Given the description of an element on the screen output the (x, y) to click on. 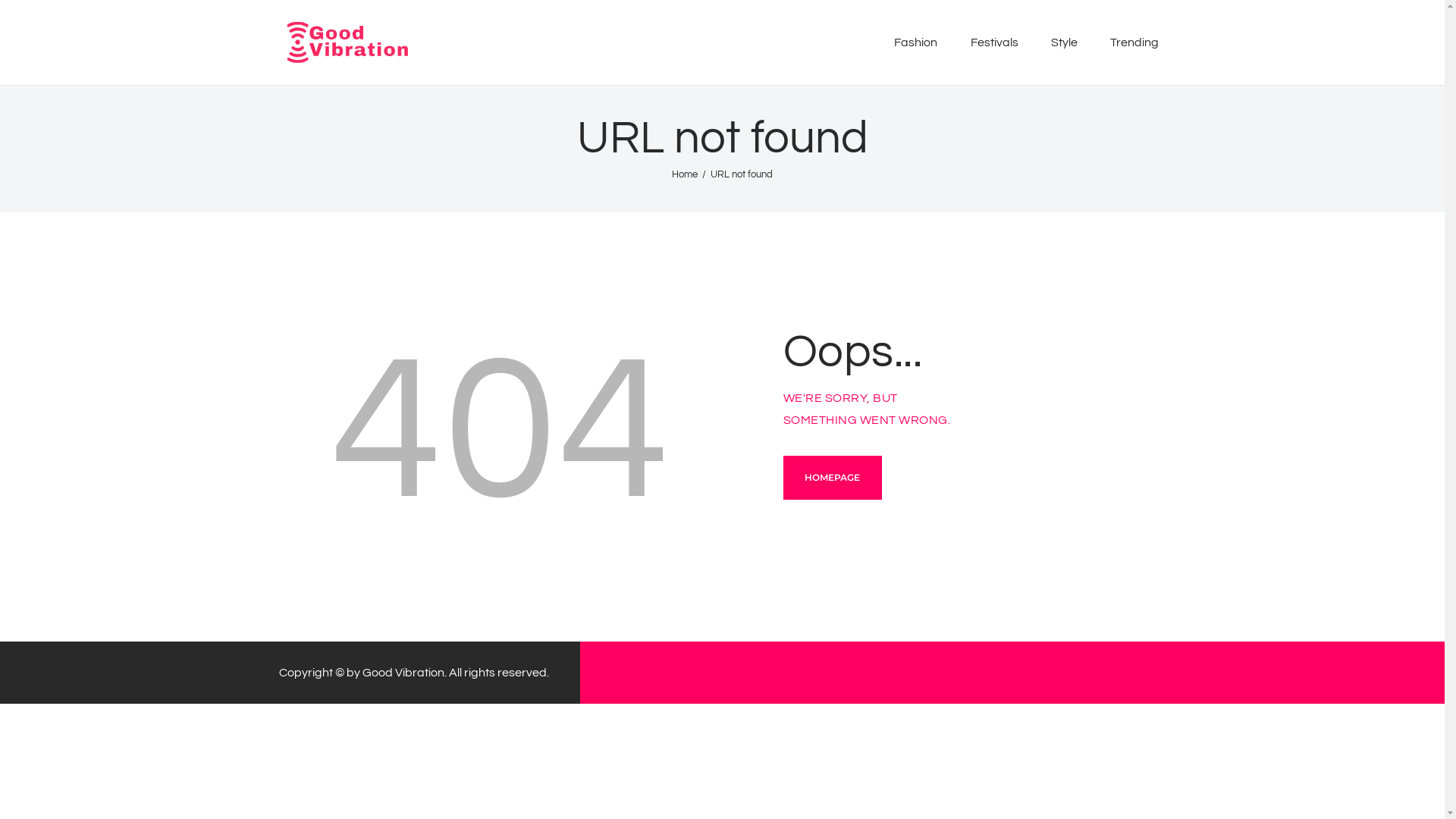
Home Element type: text (684, 174)
HOMEPAGE Element type: text (831, 477)
Festivals Element type: text (994, 42)
Style Element type: text (1063, 42)
Trending Element type: text (1133, 42)
Fashion Element type: text (915, 42)
